Given the description of an element on the screen output the (x, y) to click on. 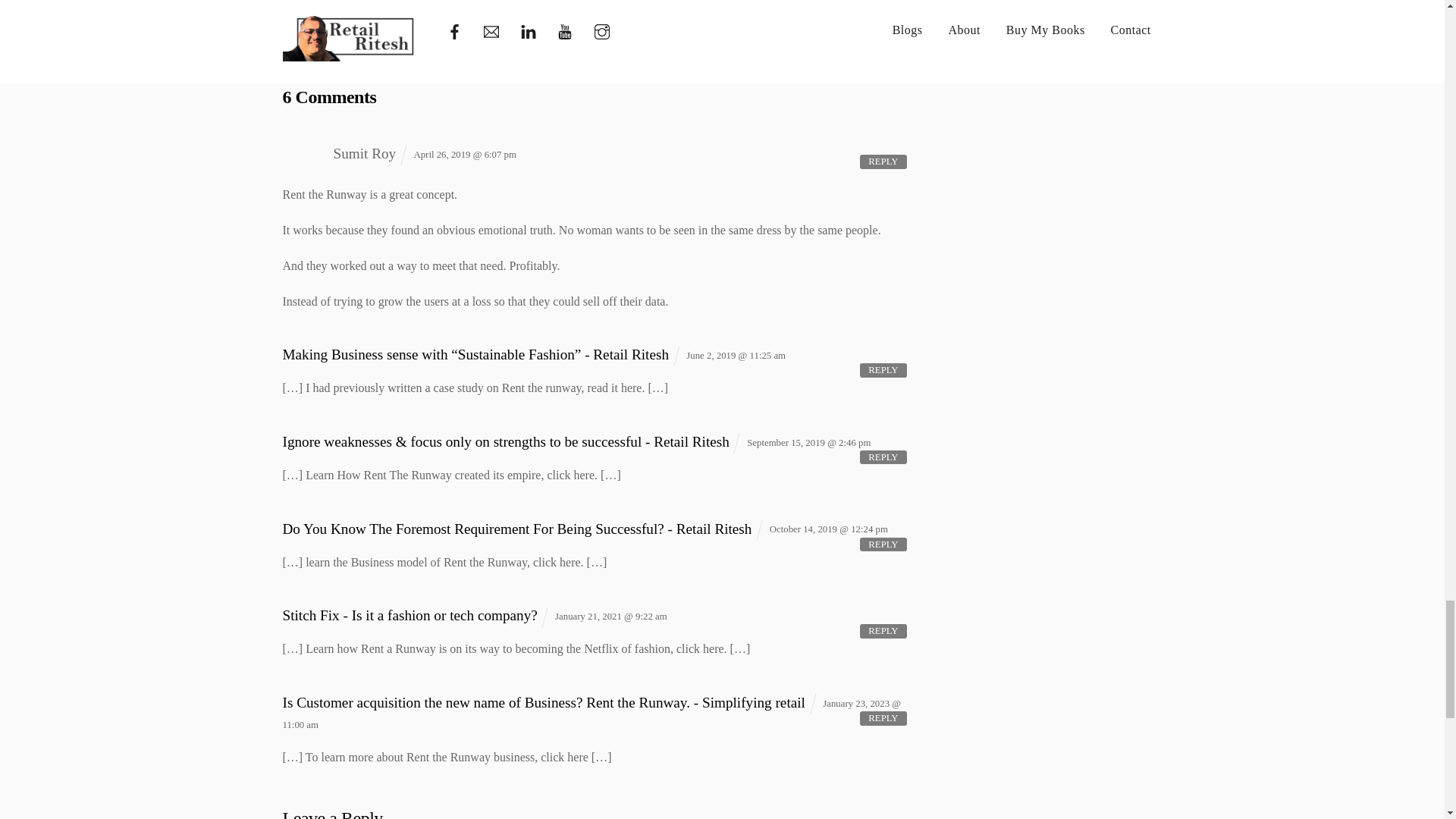
REPLY (883, 457)
REPLY (883, 161)
REPLY (883, 369)
